Given the description of an element on the screen output the (x, y) to click on. 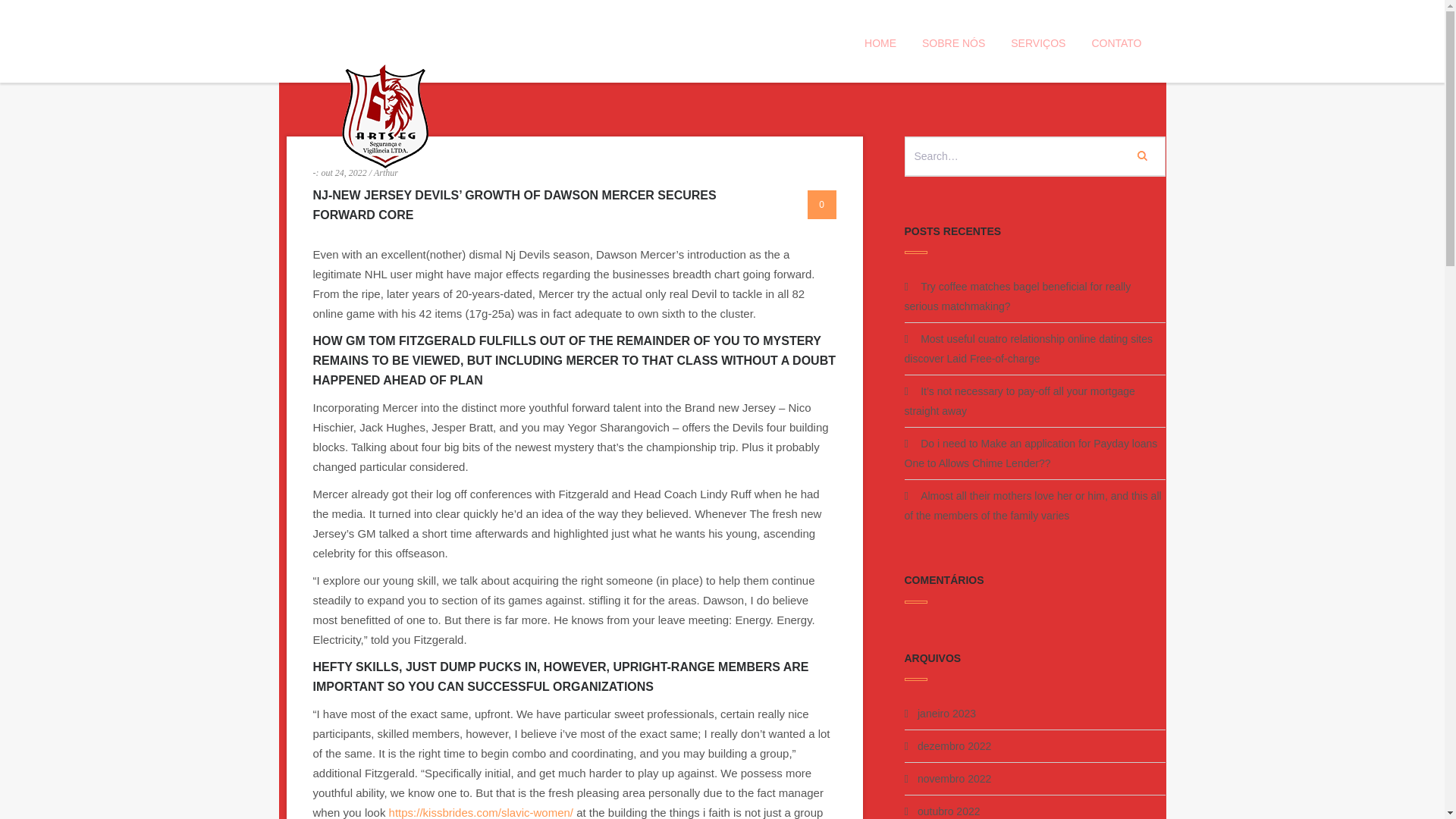
Go (1141, 155)
Go (1141, 155)
novembro 2022 (954, 778)
dezembro 2022 (954, 746)
HOME (879, 43)
CONTATO (1116, 43)
janeiro 2023 (946, 713)
outubro 2022 (948, 811)
Go (1141, 155)
